Given the description of an element on the screen output the (x, y) to click on. 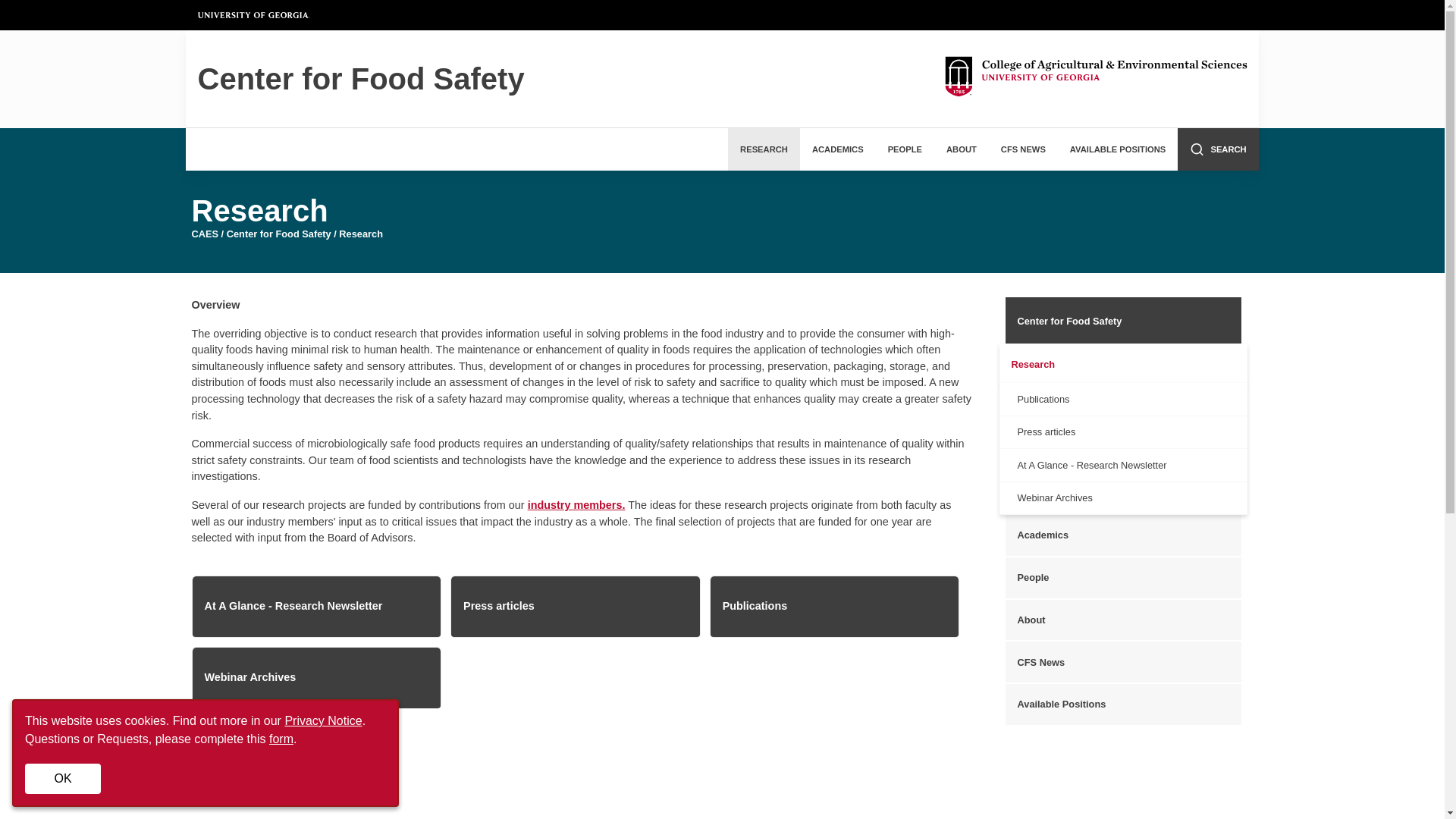
Center for Food Safety (569, 78)
RESEARCH (763, 148)
ACADEMICS (837, 148)
ABOUT (961, 148)
SEARCH (1217, 148)
AVAILABLE POSITIONS (1117, 148)
University of Georgia (252, 15)
PEOPLE (905, 148)
CFS NEWS (1023, 148)
